Given the description of an element on the screen output the (x, y) to click on. 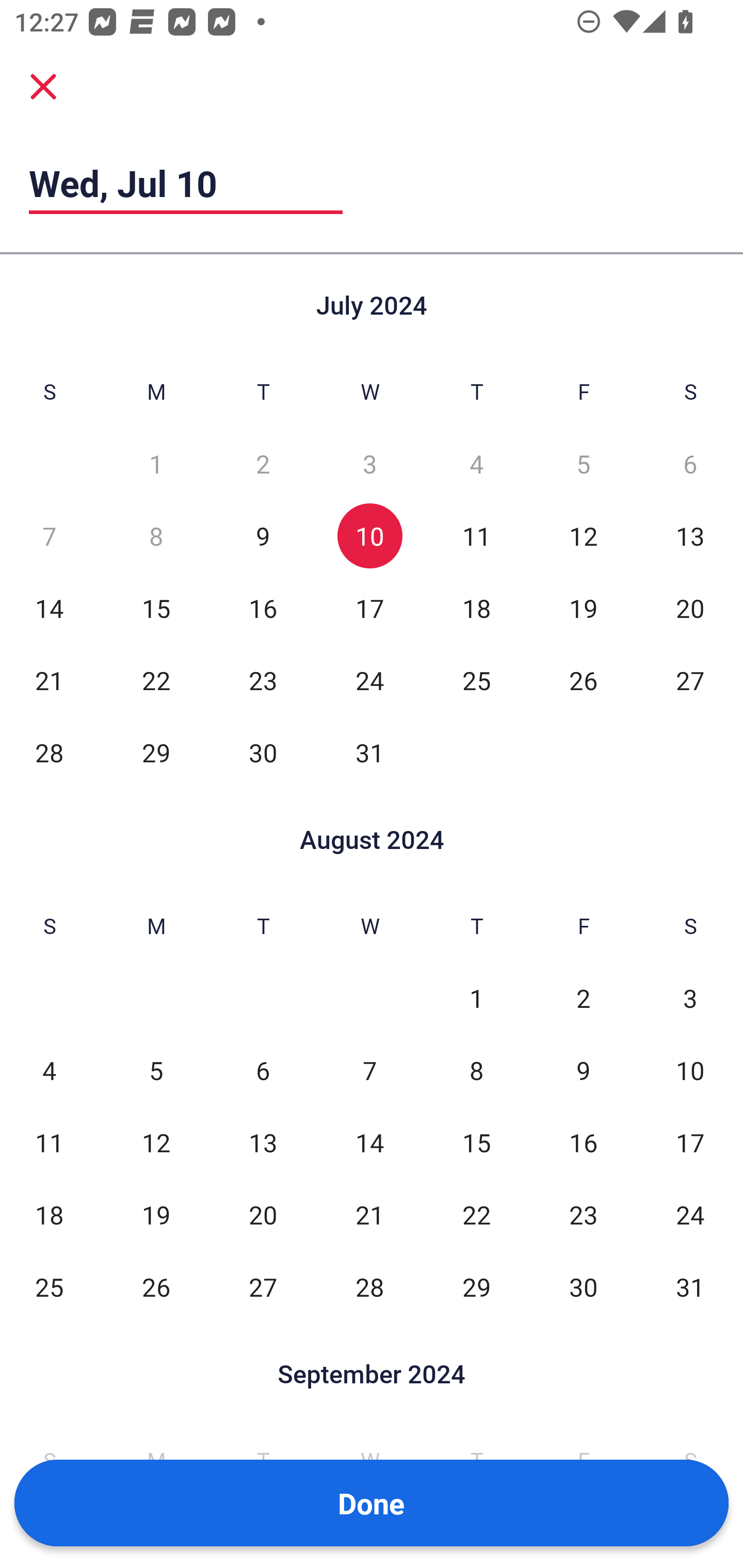
Cancel (43, 86)
Wed, Jul 10 (185, 182)
1 Mon, Jul 1, Not Selected (156, 464)
2 Tue, Jul 2, Not Selected (263, 464)
3 Wed, Jul 3, Not Selected (369, 464)
4 Thu, Jul 4, Not Selected (476, 464)
5 Fri, Jul 5, Not Selected (583, 464)
6 Sat, Jul 6, Not Selected (690, 464)
7 Sun, Jul 7, Not Selected (49, 536)
8 Mon, Jul 8, Not Selected (156, 536)
9 Tue, Jul 9, Not Selected (263, 536)
10 Wed, Jul 10, Selected (369, 536)
11 Thu, Jul 11, Not Selected (476, 536)
12 Fri, Jul 12, Not Selected (583, 536)
13 Sat, Jul 13, Not Selected (690, 536)
14 Sun, Jul 14, Not Selected (49, 608)
15 Mon, Jul 15, Not Selected (156, 608)
16 Tue, Jul 16, Not Selected (263, 608)
17 Wed, Jul 17, Not Selected (369, 608)
18 Thu, Jul 18, Not Selected (476, 608)
19 Fri, Jul 19, Not Selected (583, 608)
20 Sat, Jul 20, Not Selected (690, 608)
21 Sun, Jul 21, Not Selected (49, 680)
22 Mon, Jul 22, Not Selected (156, 680)
23 Tue, Jul 23, Not Selected (263, 680)
24 Wed, Jul 24, Not Selected (369, 680)
25 Thu, Jul 25, Not Selected (476, 680)
26 Fri, Jul 26, Not Selected (583, 680)
27 Sat, Jul 27, Not Selected (690, 680)
28 Sun, Jul 28, Not Selected (49, 752)
29 Mon, Jul 29, Not Selected (156, 752)
30 Tue, Jul 30, Not Selected (263, 752)
31 Wed, Jul 31, Not Selected (369, 752)
1 Thu, Aug 1, Not Selected (476, 997)
2 Fri, Aug 2, Not Selected (583, 997)
3 Sat, Aug 3, Not Selected (690, 997)
4 Sun, Aug 4, Not Selected (49, 1070)
5 Mon, Aug 5, Not Selected (156, 1070)
6 Tue, Aug 6, Not Selected (263, 1070)
7 Wed, Aug 7, Not Selected (369, 1070)
8 Thu, Aug 8, Not Selected (476, 1070)
9 Fri, Aug 9, Not Selected (583, 1070)
10 Sat, Aug 10, Not Selected (690, 1070)
11 Sun, Aug 11, Not Selected (49, 1143)
12 Mon, Aug 12, Not Selected (156, 1143)
13 Tue, Aug 13, Not Selected (263, 1143)
14 Wed, Aug 14, Not Selected (369, 1143)
15 Thu, Aug 15, Not Selected (476, 1143)
16 Fri, Aug 16, Not Selected (583, 1143)
17 Sat, Aug 17, Not Selected (690, 1143)
